Given the description of an element on the screen output the (x, y) to click on. 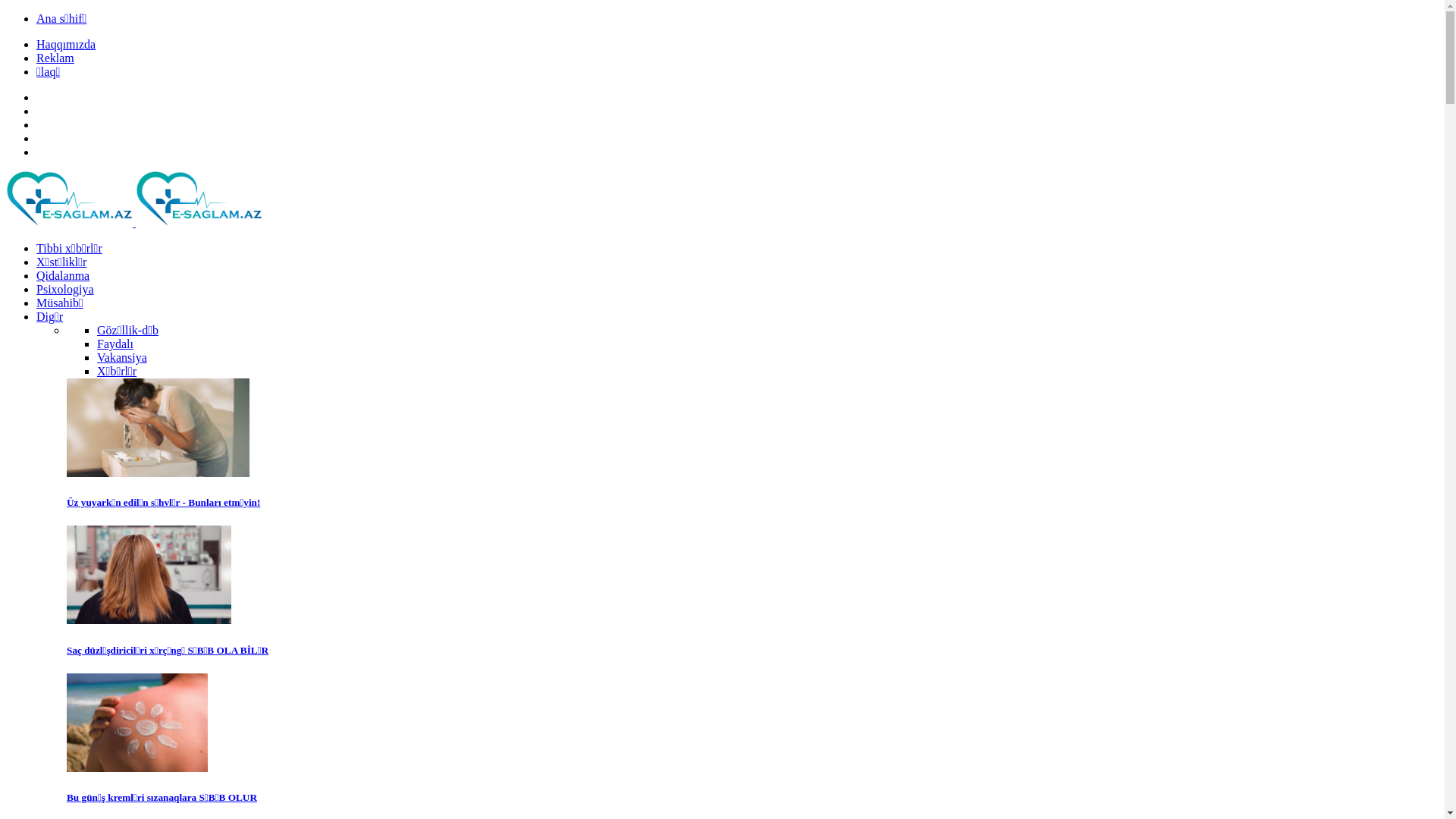
Reklam Element type: text (55, 57)
Psixologiya Element type: text (65, 288)
Qidalanma Element type: text (62, 275)
Vakansiya Element type: text (122, 357)
